Given the description of an element on the screen output the (x, y) to click on. 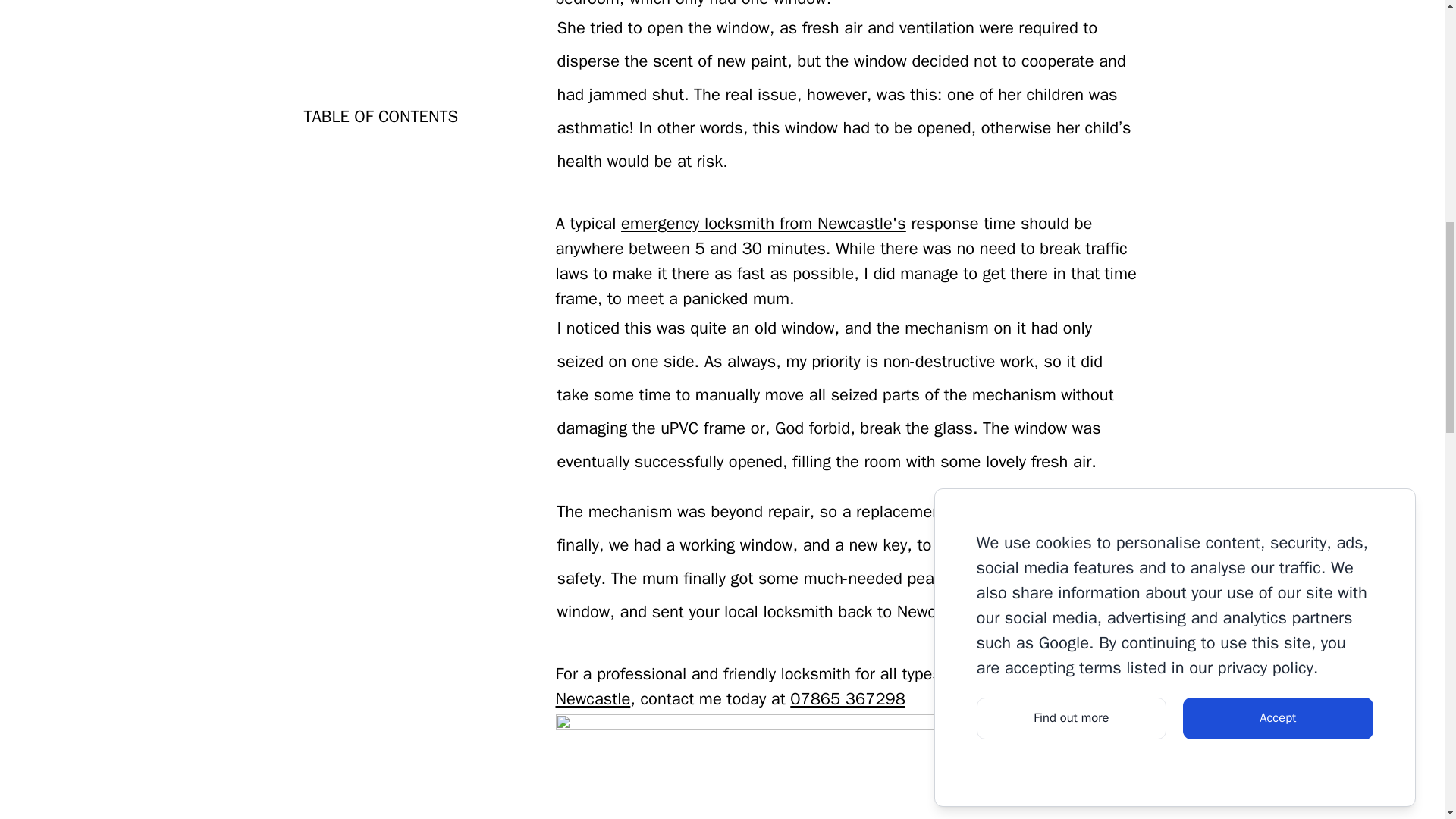
07865 367298 (847, 699)
emergency locksmith from Newcastle's (763, 223)
lock repair in Newcastle (806, 686)
